Given the description of an element on the screen output the (x, y) to click on. 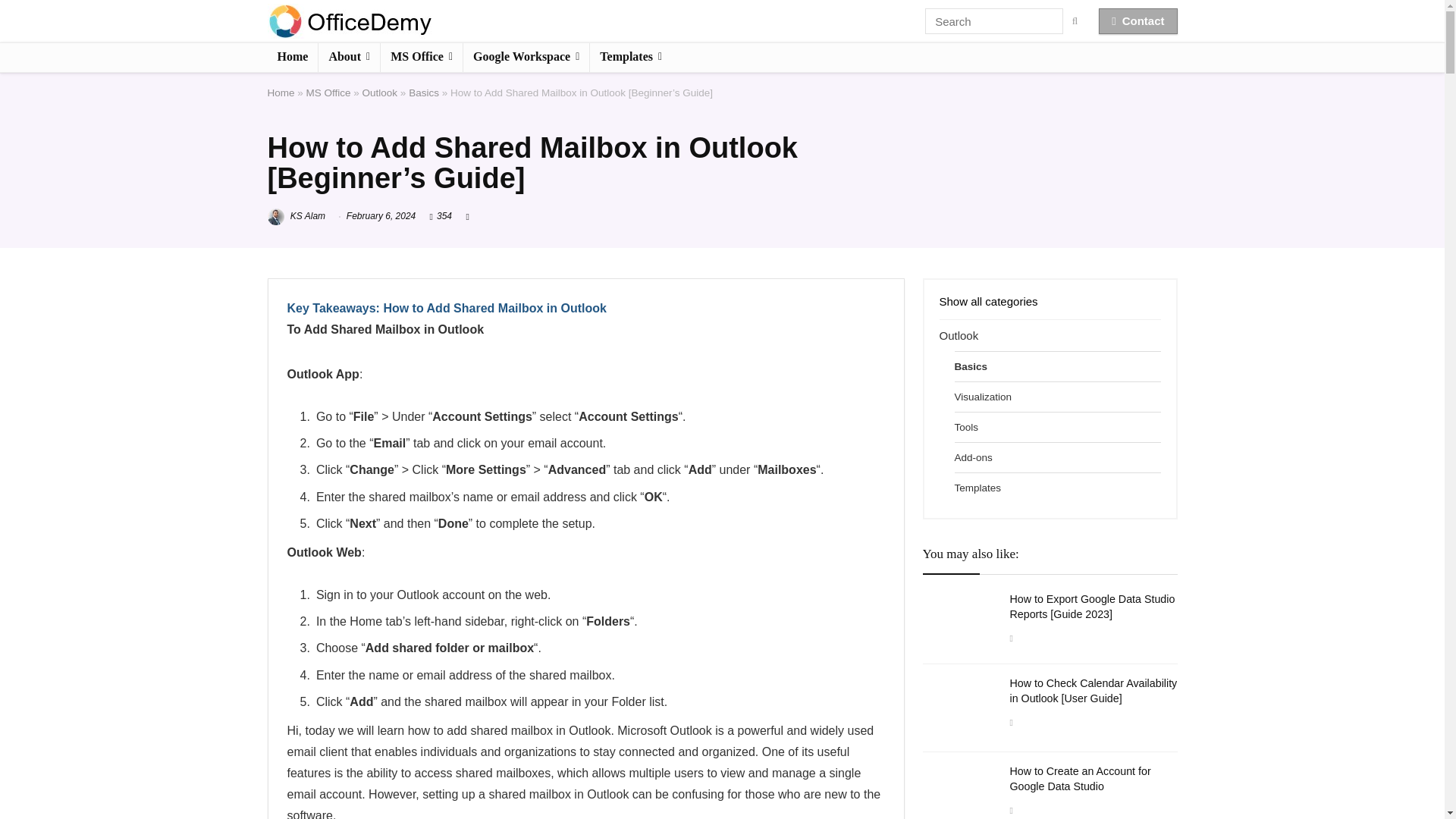
Google Workspace (526, 57)
MS Office (421, 57)
Home (291, 57)
Contact (1137, 21)
About (349, 57)
